Given the description of an element on the screen output the (x, y) to click on. 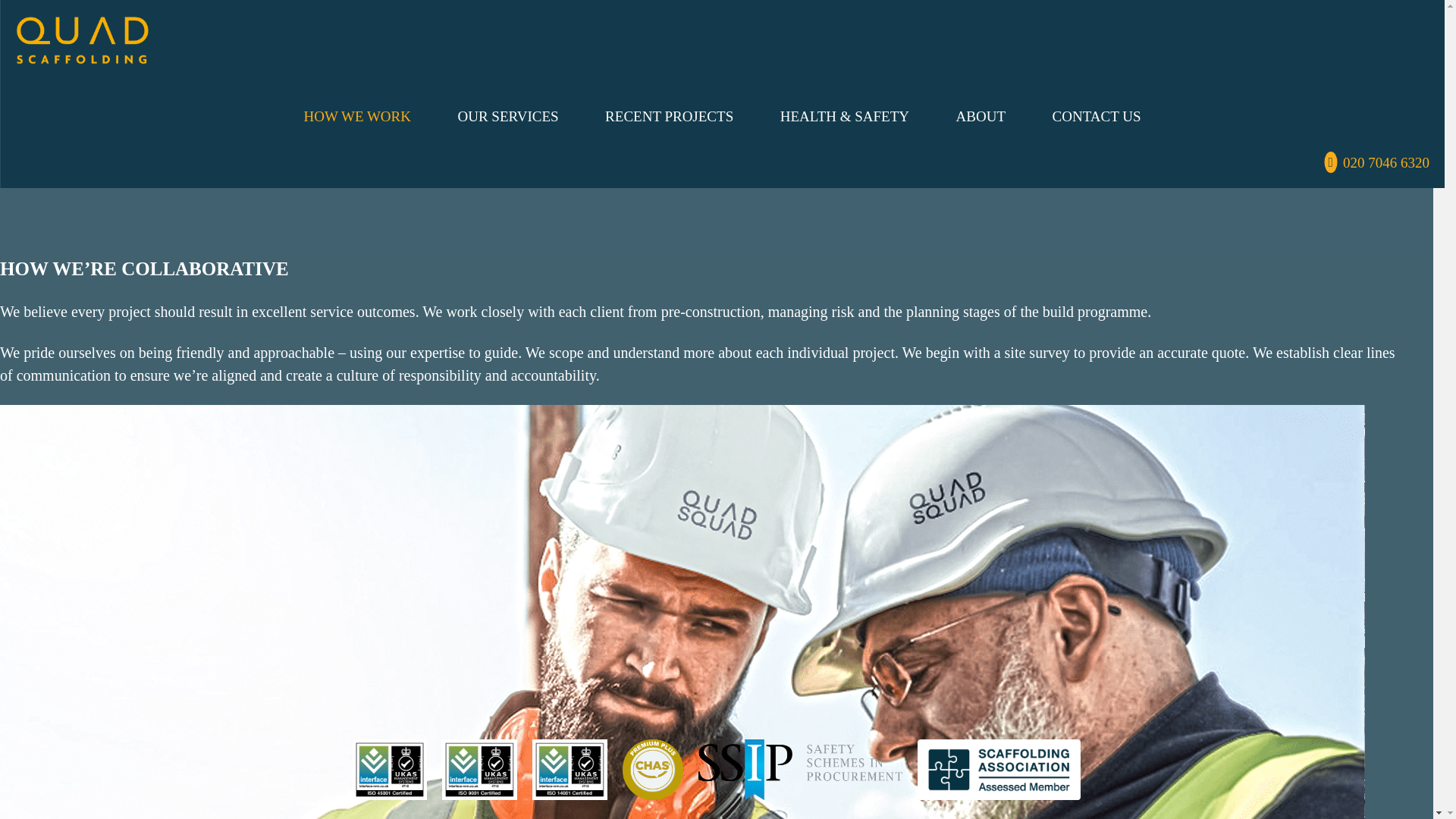
RECENT PROJECTS (668, 116)
OUR SERVICES (507, 116)
CONTACT US (1096, 116)
ABOUT (981, 116)
HOW WE WORK (358, 116)
